Given the description of an element on the screen output the (x, y) to click on. 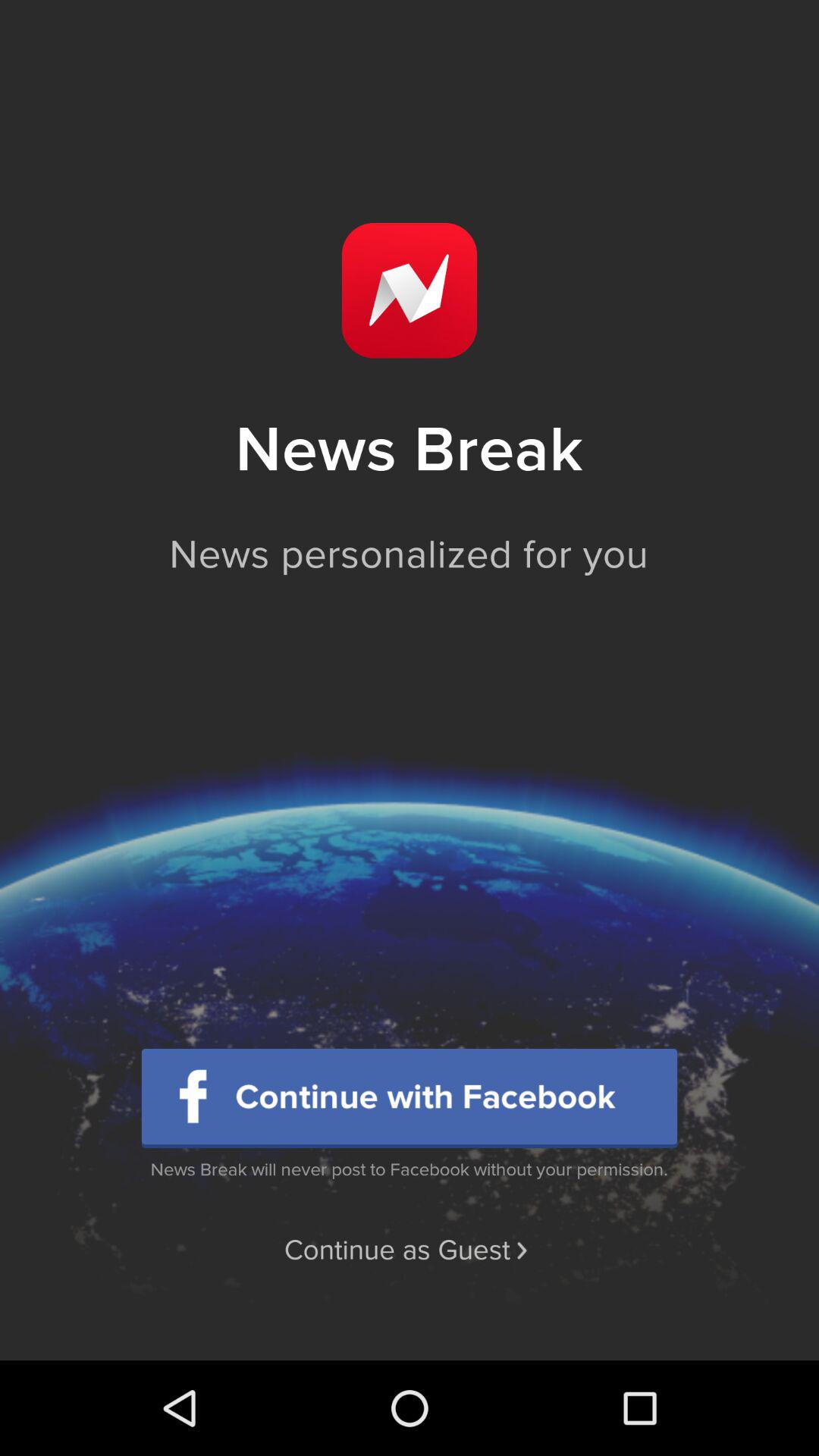
login using facebook (409, 1098)
